Given the description of an element on the screen output the (x, y) to click on. 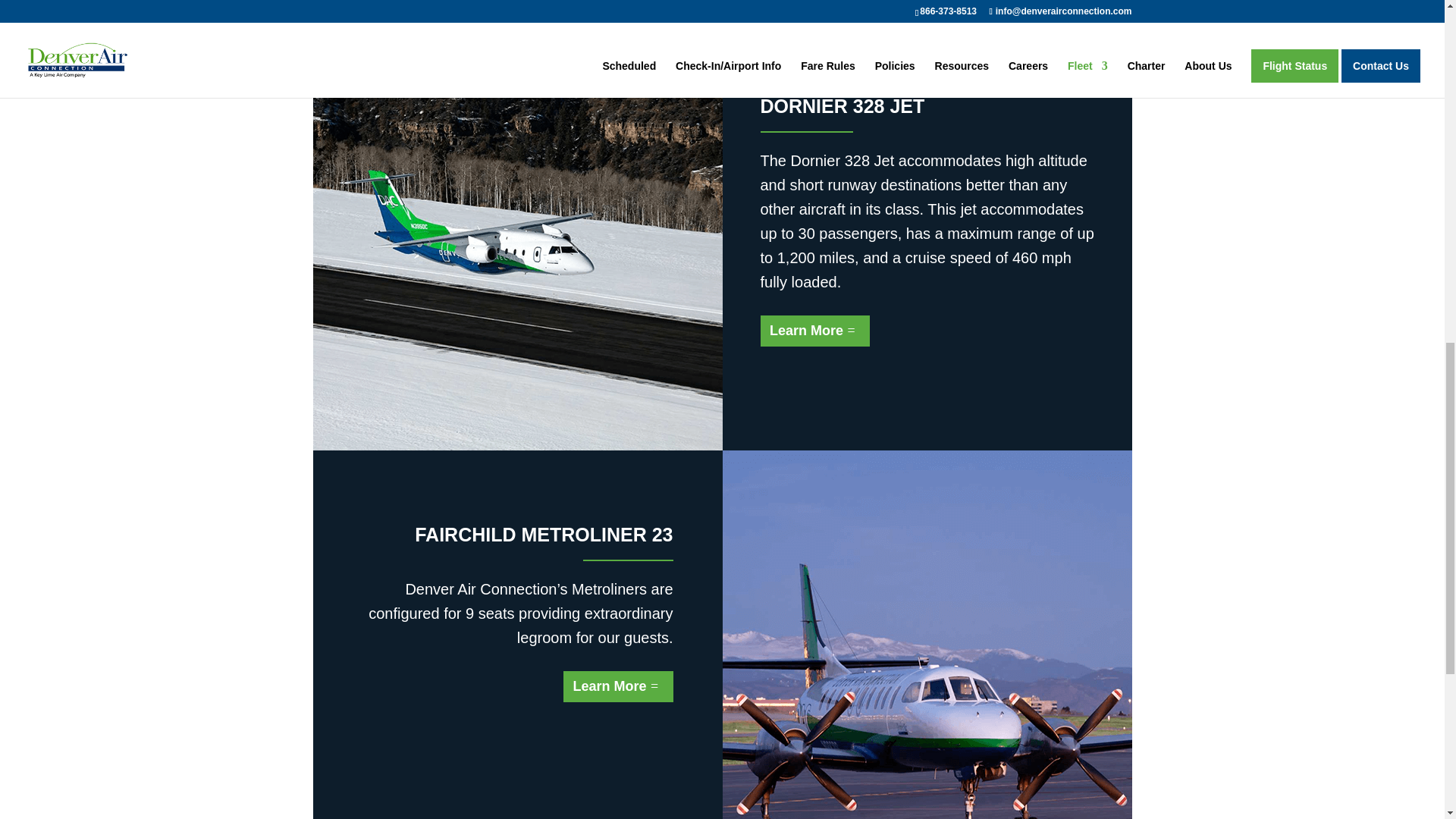
Learn More (617, 685)
Learn More (814, 330)
